Given the description of an element on the screen output the (x, y) to click on. 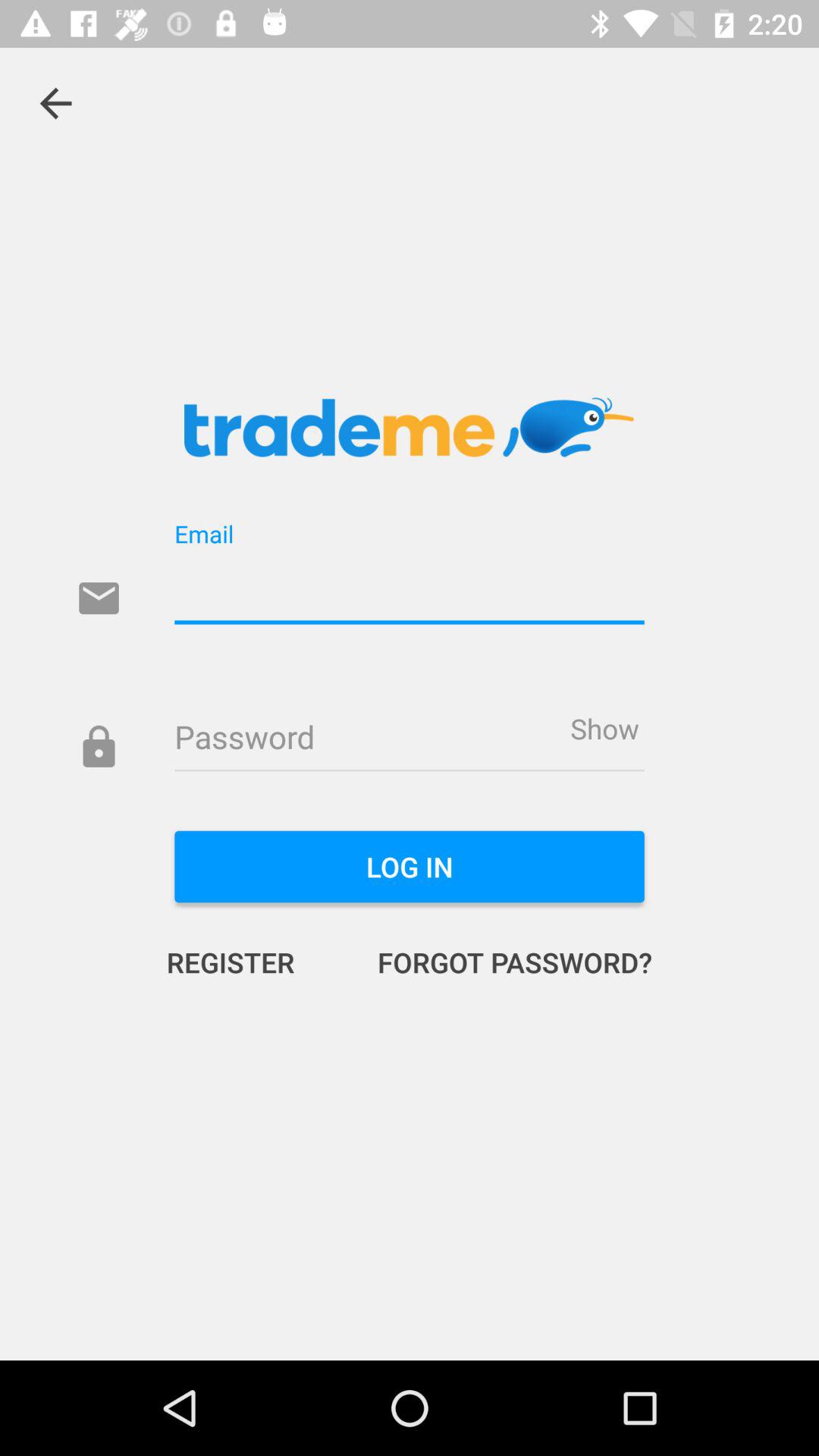
turn on item next to the register item (498, 962)
